Given the description of an element on the screen output the (x, y) to click on. 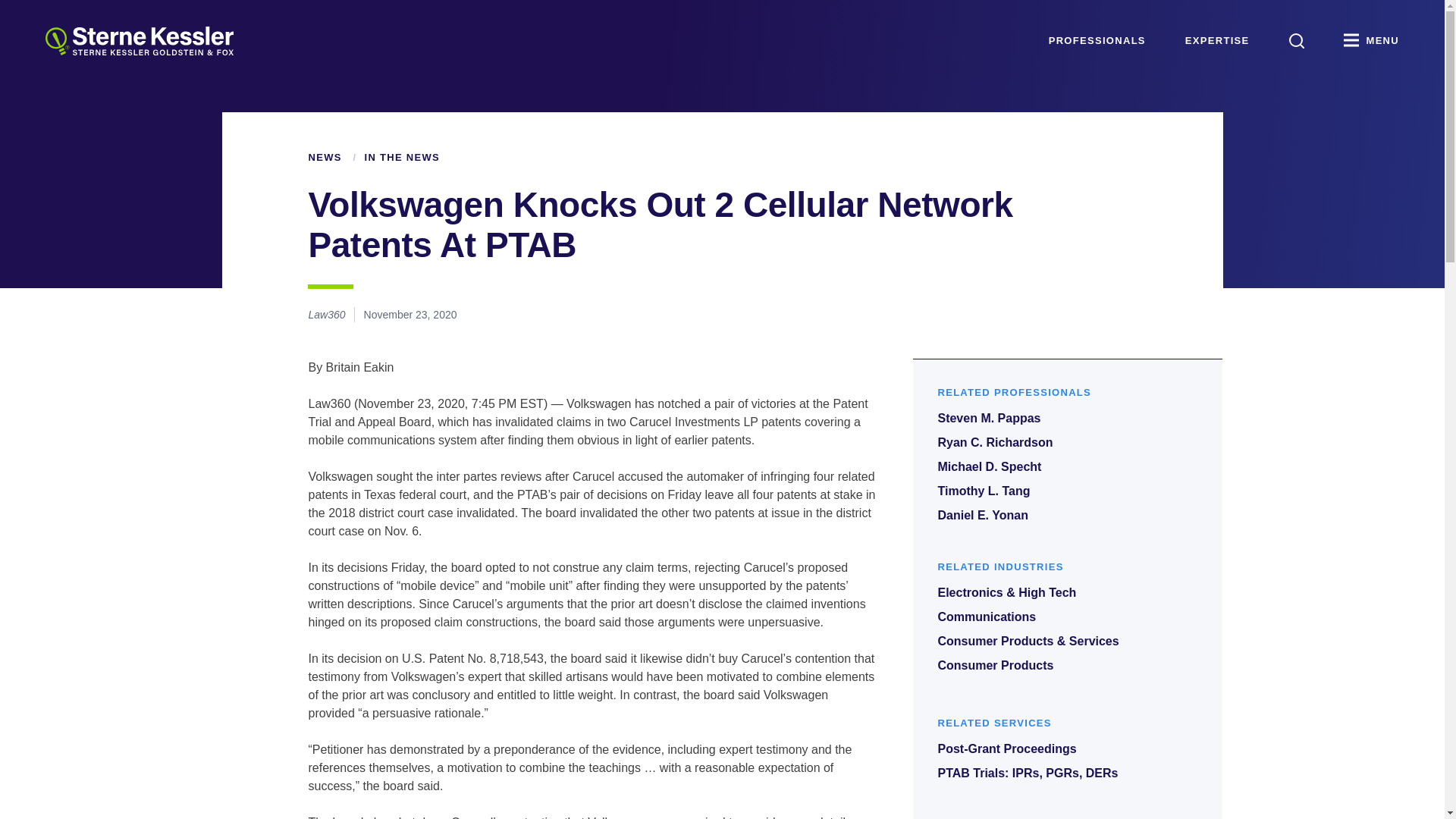
Sterne Kessler (138, 40)
PROFESSIONALS (1096, 40)
MENU (1371, 40)
